Given the description of an element on the screen output the (x, y) to click on. 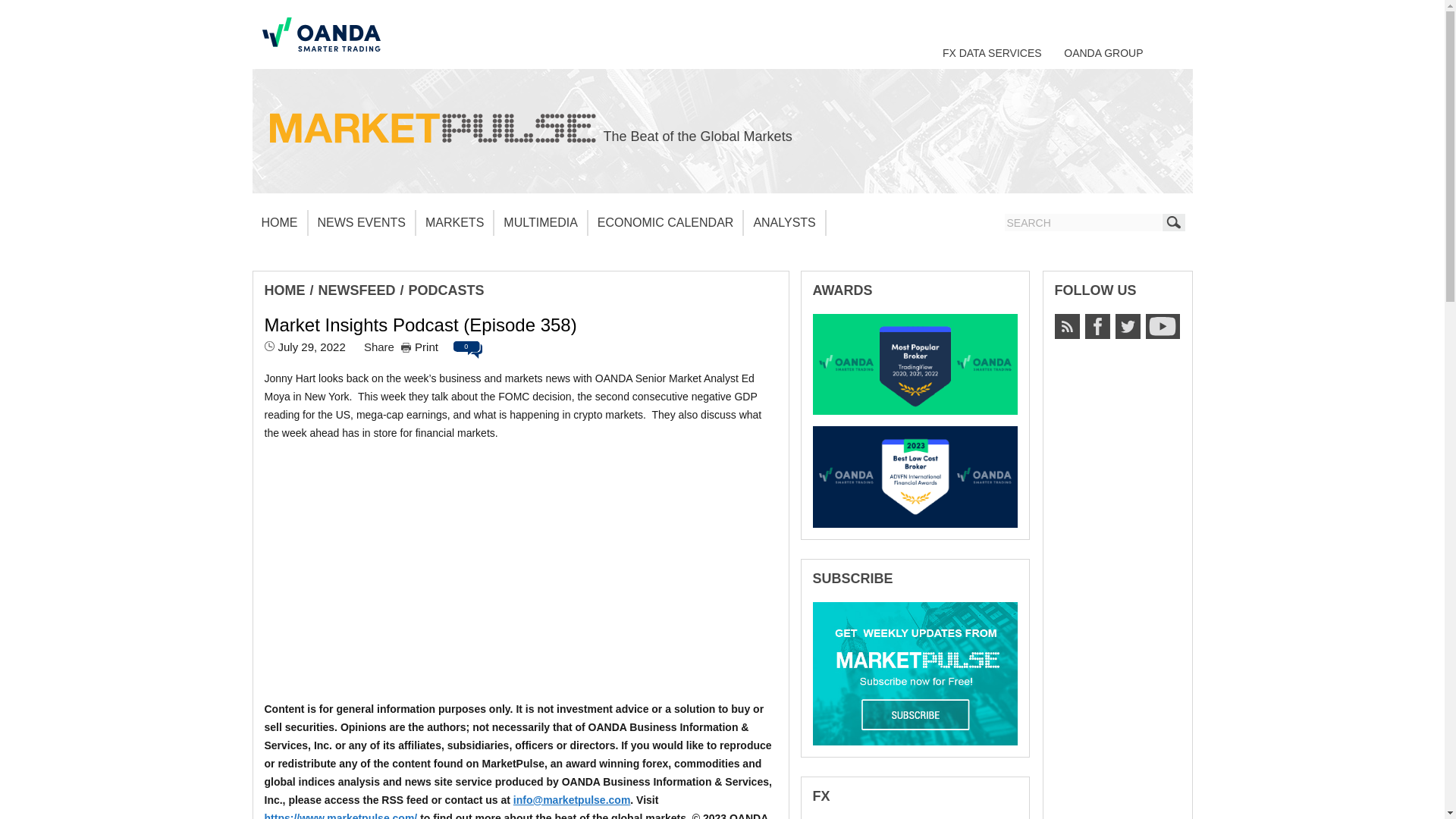
NEWSFEED (357, 290)
ECONOMIC CALENDAR (666, 222)
Print (419, 346)
HOME (283, 290)
RSS (1066, 326)
MULTIMEDIA (540, 222)
Find (1173, 221)
HOME (279, 222)
Share (379, 346)
Facebook (1096, 326)
NEWS EVENTS (360, 222)
ANALYSTS (784, 222)
MARKETS (454, 222)
OANDA GROUP (1103, 52)
Twitter (1127, 326)
